Given the description of an element on the screen output the (x, y) to click on. 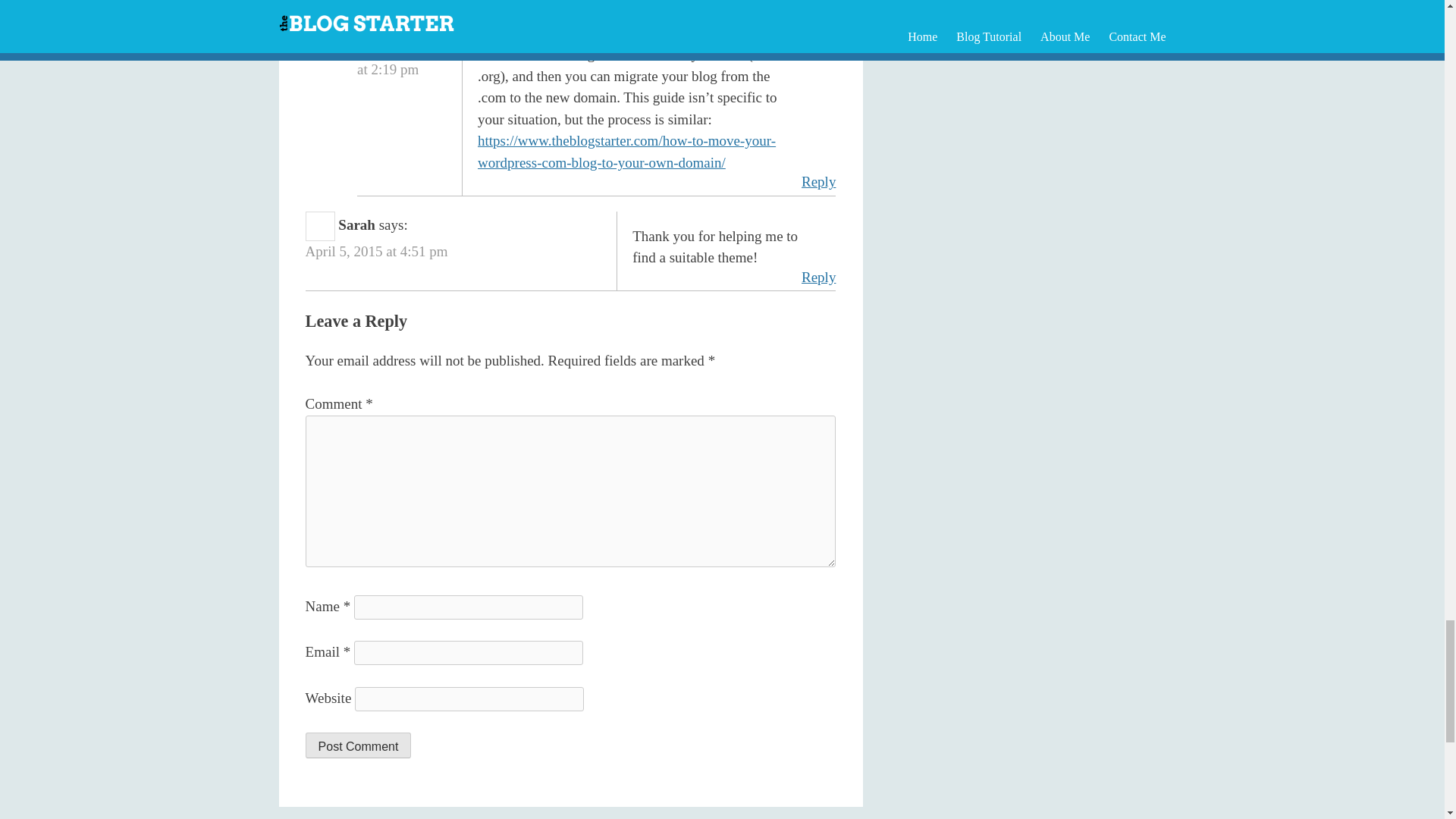
Reply (818, 277)
Post Comment (358, 745)
April 5, 2015 at 4:51 pm (376, 251)
Reply (818, 182)
Post Comment (358, 745)
Scott Chow (389, 17)
March 9, 2019 at 2:19 pm (398, 58)
